Given the description of an element on the screen output the (x, y) to click on. 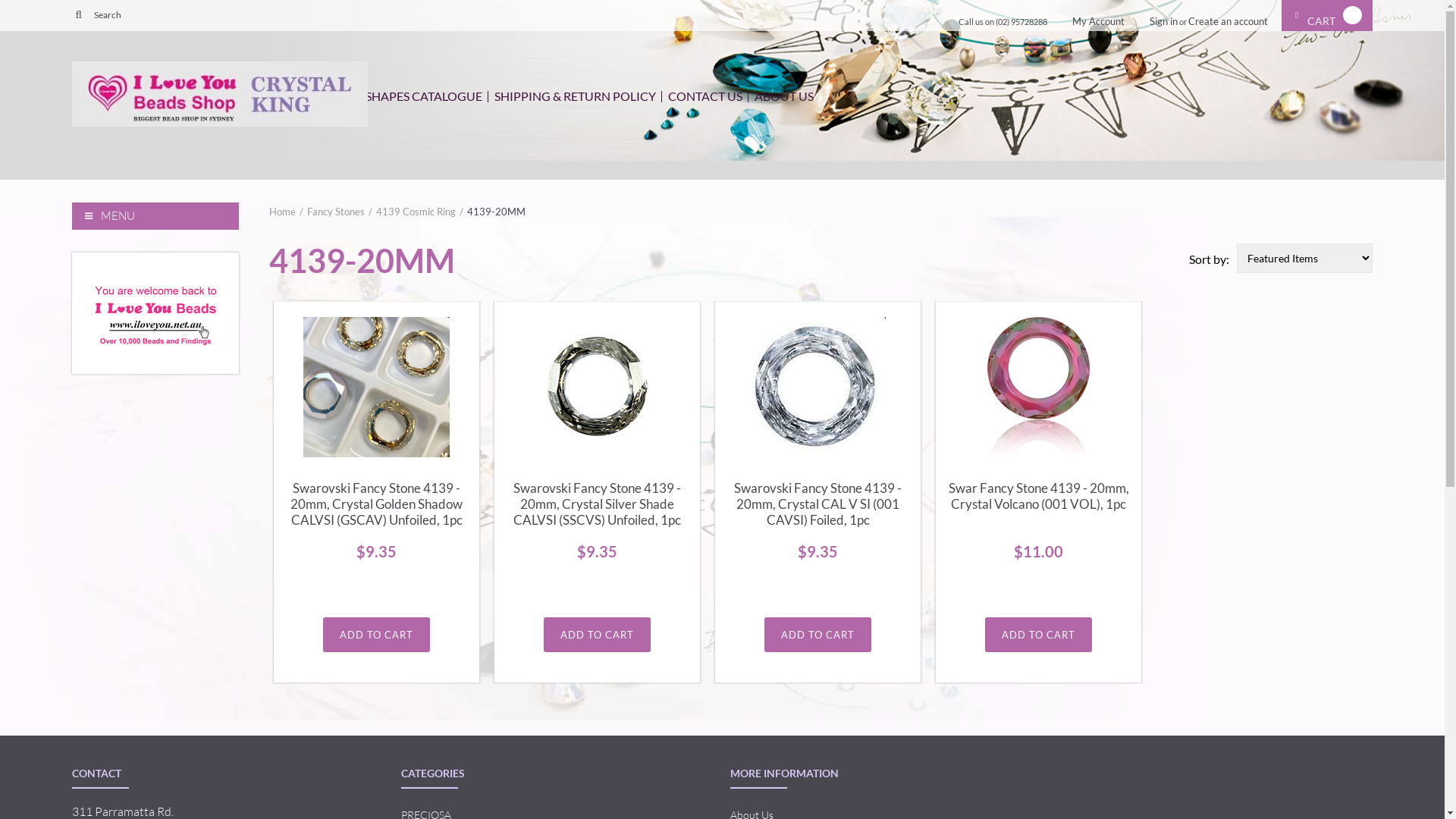
Swar Fancy Stone 4139 - 20mm, Crystal Volcano (001 VOL), 1pc Element type: text (1038, 497)
ABOUT US Element type: text (783, 95)
SHAPES CATALOGUE Element type: text (423, 95)
4139 Cosmic Ring Element type: text (419, 211)
Home Element type: text (286, 211)
Sign in Element type: text (1163, 20)
CONTACT US Element type: text (705, 95)
Search Element type: hover (78, 13)
SHIPPING & RETURN POLICY Element type: text (575, 95)
ADD TO CART Element type: text (376, 634)
Fancy Stones Element type: text (339, 211)
ADD TO CART Element type: text (596, 634)
ADD TO CART Element type: text (1038, 634)
My Account Element type: text (1098, 20)
 CART Element type: text (1326, 15)
ADD TO CART Element type: text (817, 634)
View Cart Element type: hover (1297, 15)
Create an account Element type: text (1227, 20)
